Given the description of an element on the screen output the (x, y) to click on. 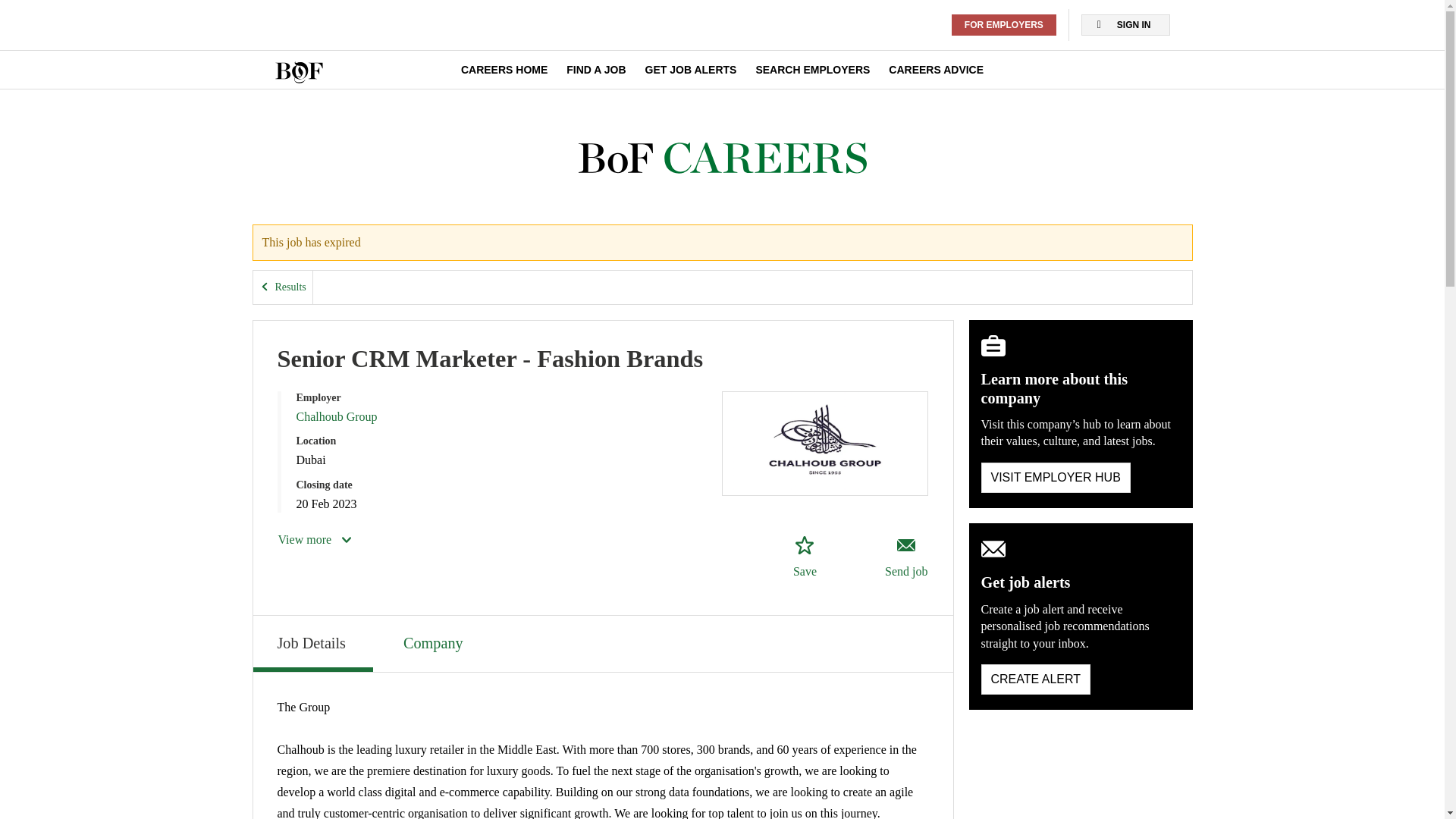
FOR EMPLOYERS (1004, 25)
View more (315, 539)
SIGN IN (1125, 25)
CAREERS ADVICE (936, 69)
FIND A JOB (596, 69)
Company (434, 641)
CAREERS HOME (504, 69)
Job Details (312, 643)
Results (283, 287)
Chalhoub Group (336, 416)
